Given the description of an element on the screen output the (x, y) to click on. 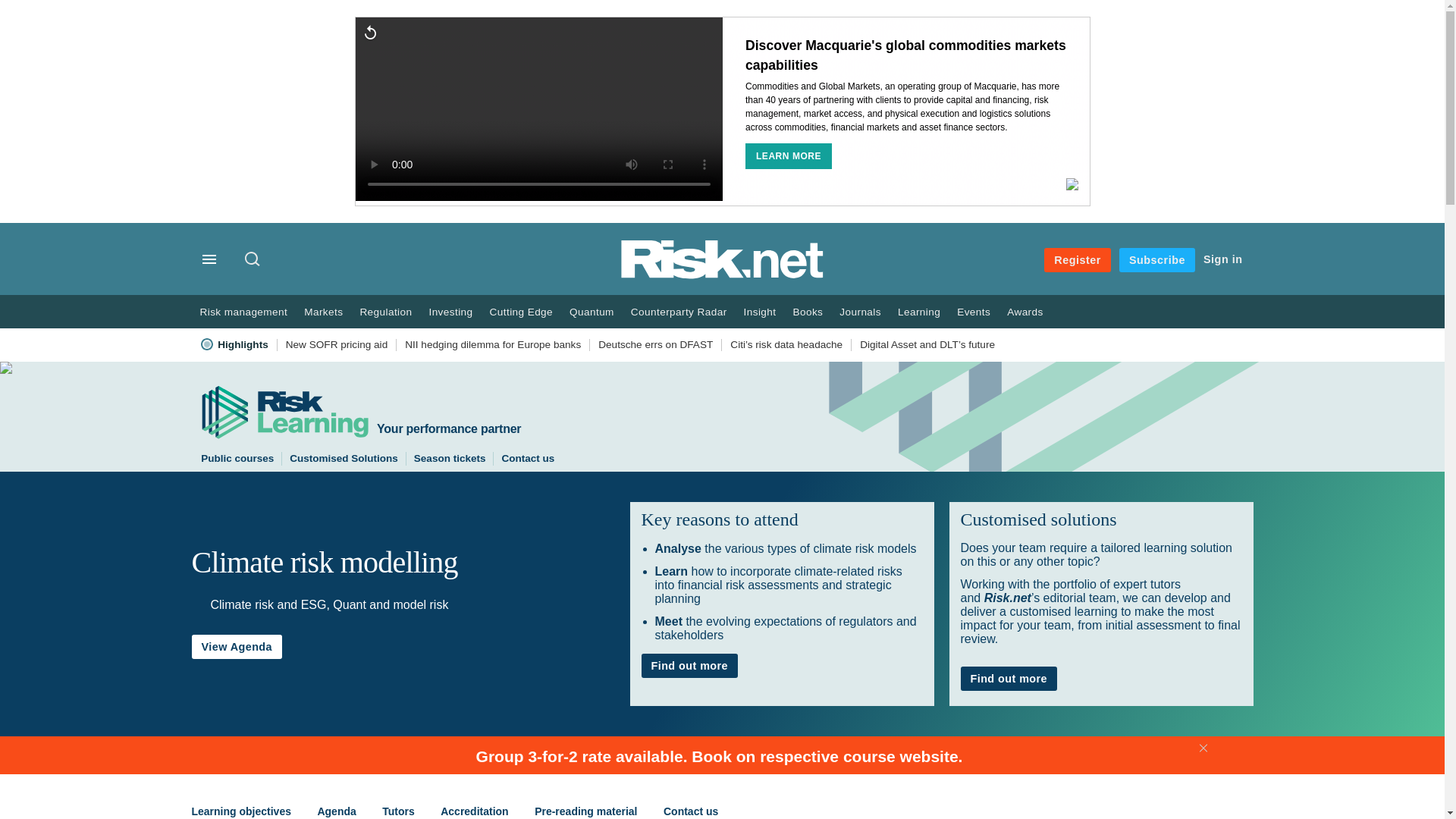
Open search popup (251, 258)
Return to homepage (722, 274)
Open side navigation menu (210, 260)
